Given the description of an element on the screen output the (x, y) to click on. 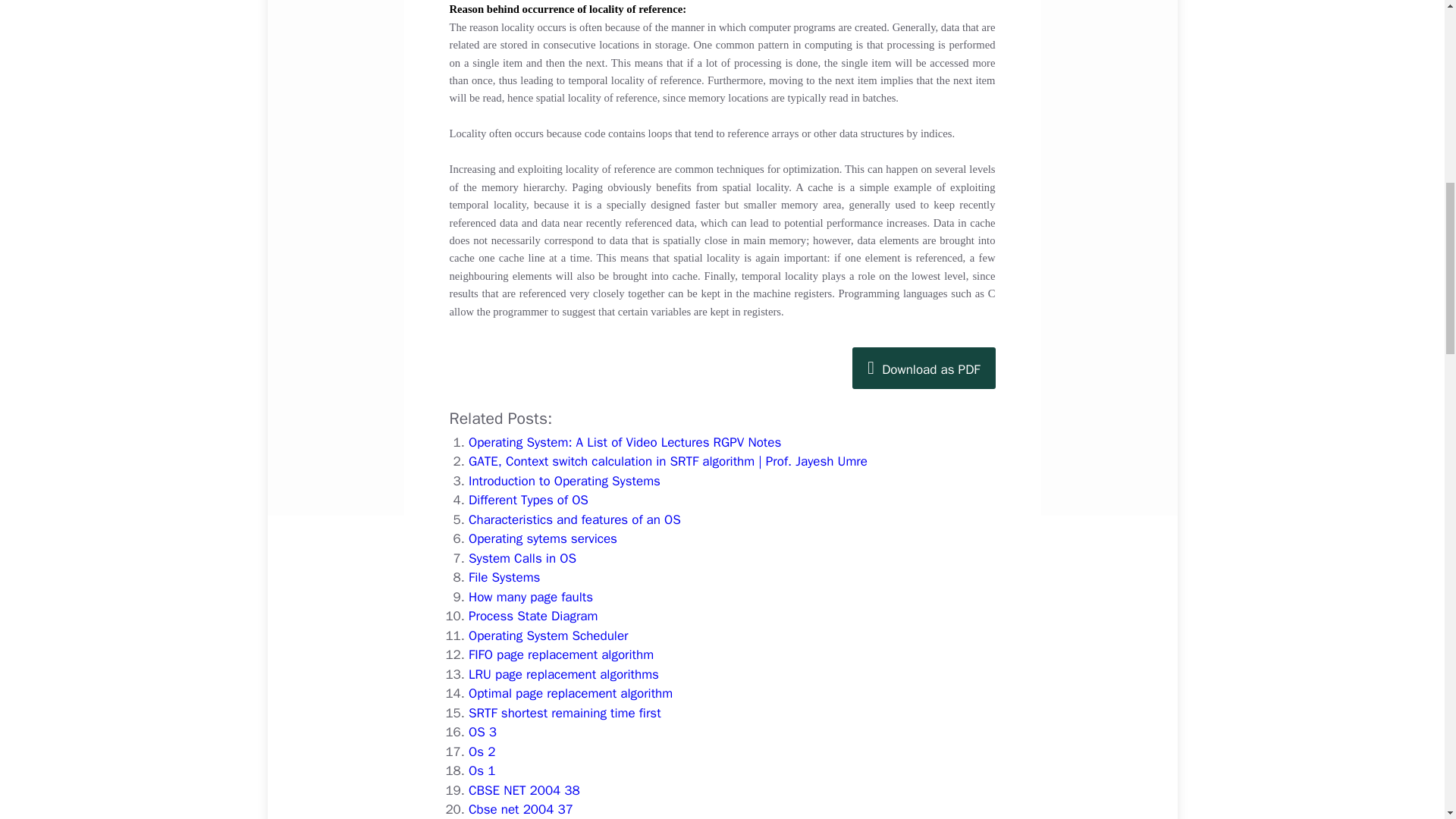
Characteristics and features of an OS (574, 519)
System Calls in OS (522, 558)
Process State Diagram (532, 616)
Introduction to Operating Systems (564, 480)
Operating sytems services (542, 538)
File Systems (504, 577)
How many page faults (530, 596)
Different Types of OS (528, 499)
Operating System Scheduler (548, 635)
FIFO page replacement algorithm (560, 654)
Operating System: A List of Video Lectures RGPV Notes (624, 442)
File Systems (504, 577)
Process State Diagram (532, 616)
Download as PDF (922, 368)
Operating System: A List of Video Lectures RGPV Notes (624, 442)
